Given the description of an element on the screen output the (x, y) to click on. 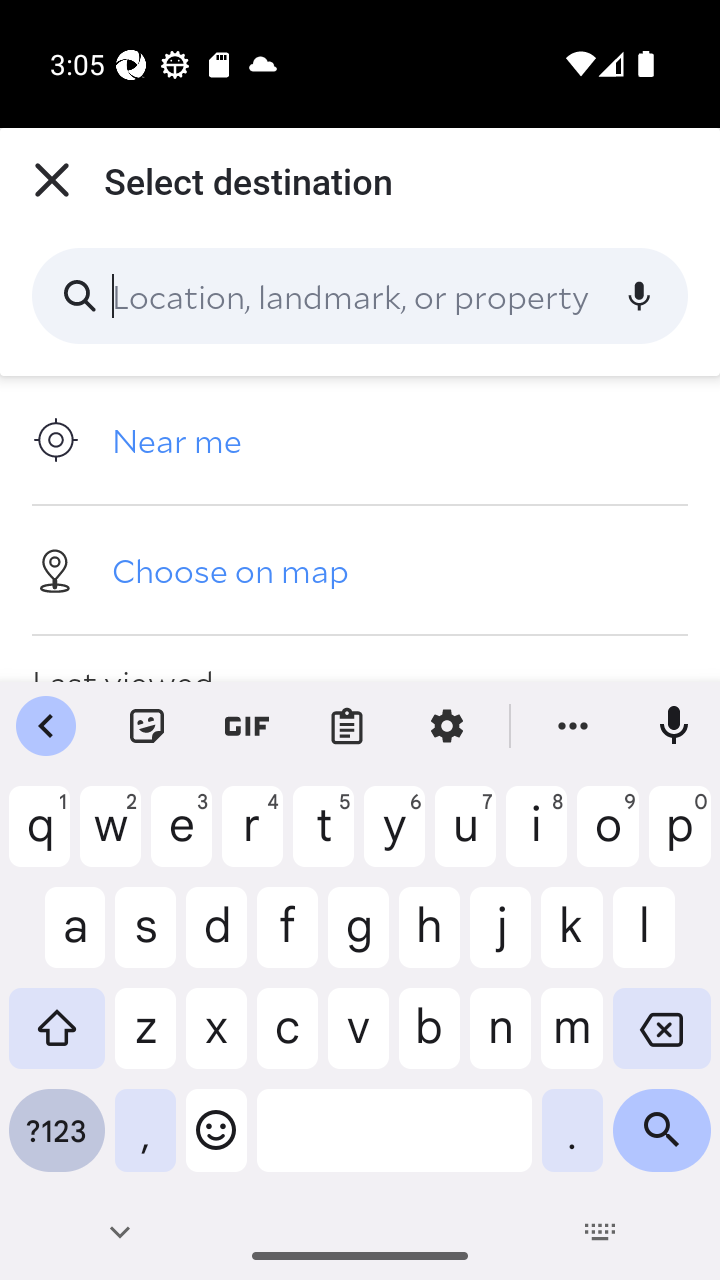
Location, landmark, or property (359, 296)
Near me (360, 440)
Choose on map (360, 569)
